Given the description of an element on the screen output the (x, y) to click on. 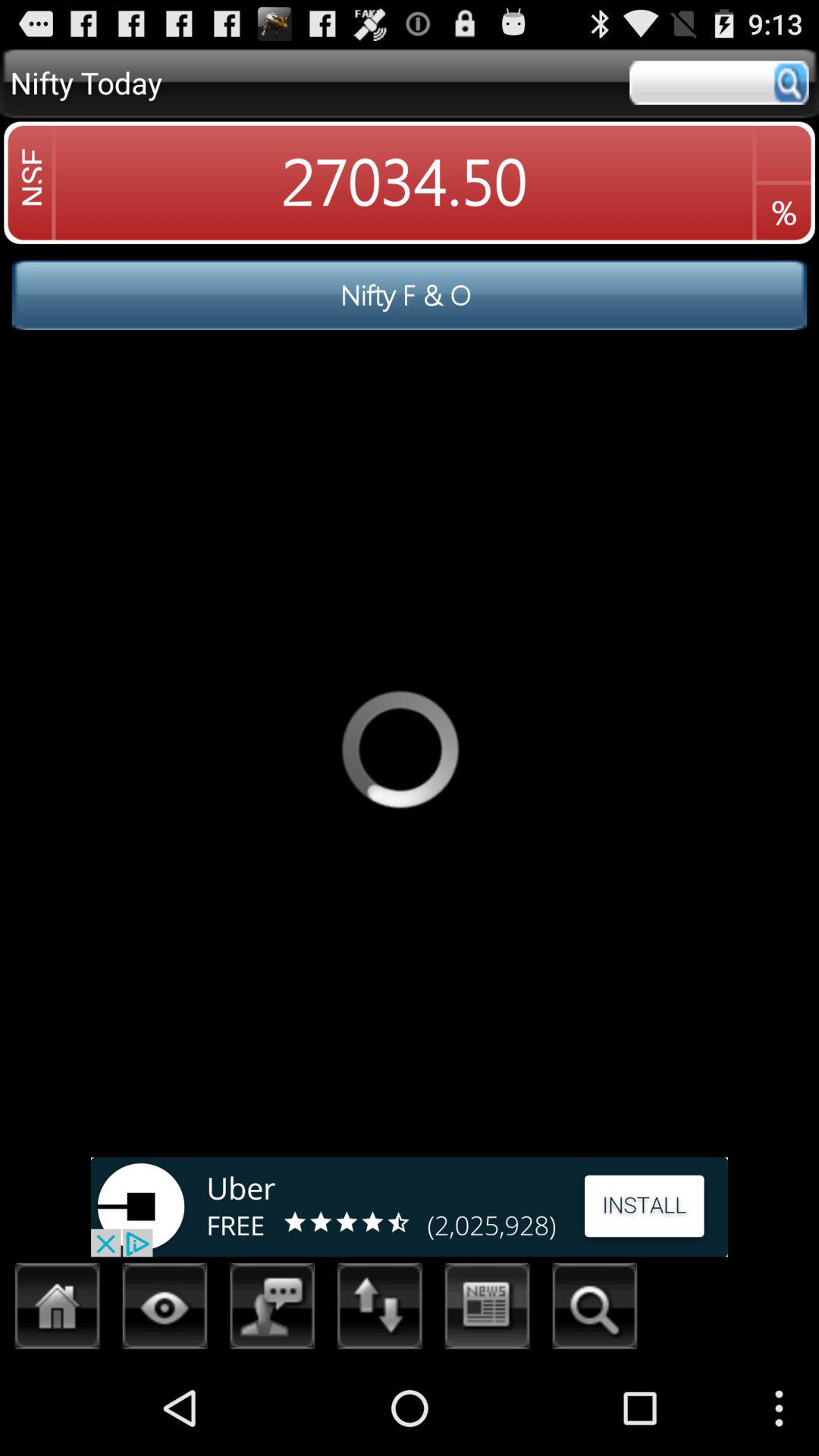
advertisement page (409, 1206)
